Given the description of an element on the screen output the (x, y) to click on. 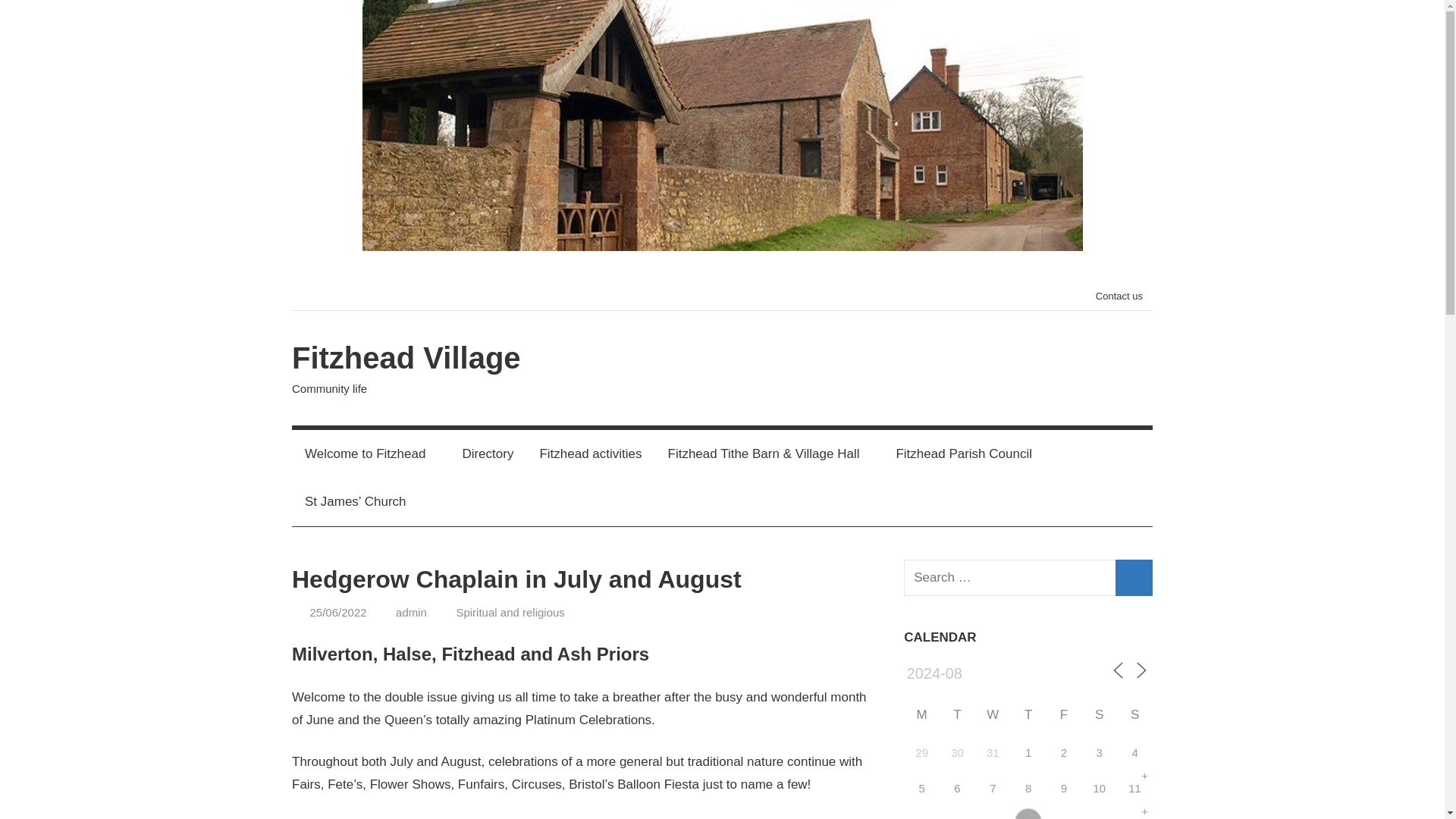
Parish Council Meeting (1028, 813)
Fitzhead activities (589, 453)
Search (1134, 578)
Spiritual and religious (509, 612)
4 (1134, 749)
admin (411, 612)
Directory (486, 453)
Fitzhead Parish Council (963, 453)
Search for: (1028, 578)
7:11 am (337, 612)
